Given the description of an element on the screen output the (x, y) to click on. 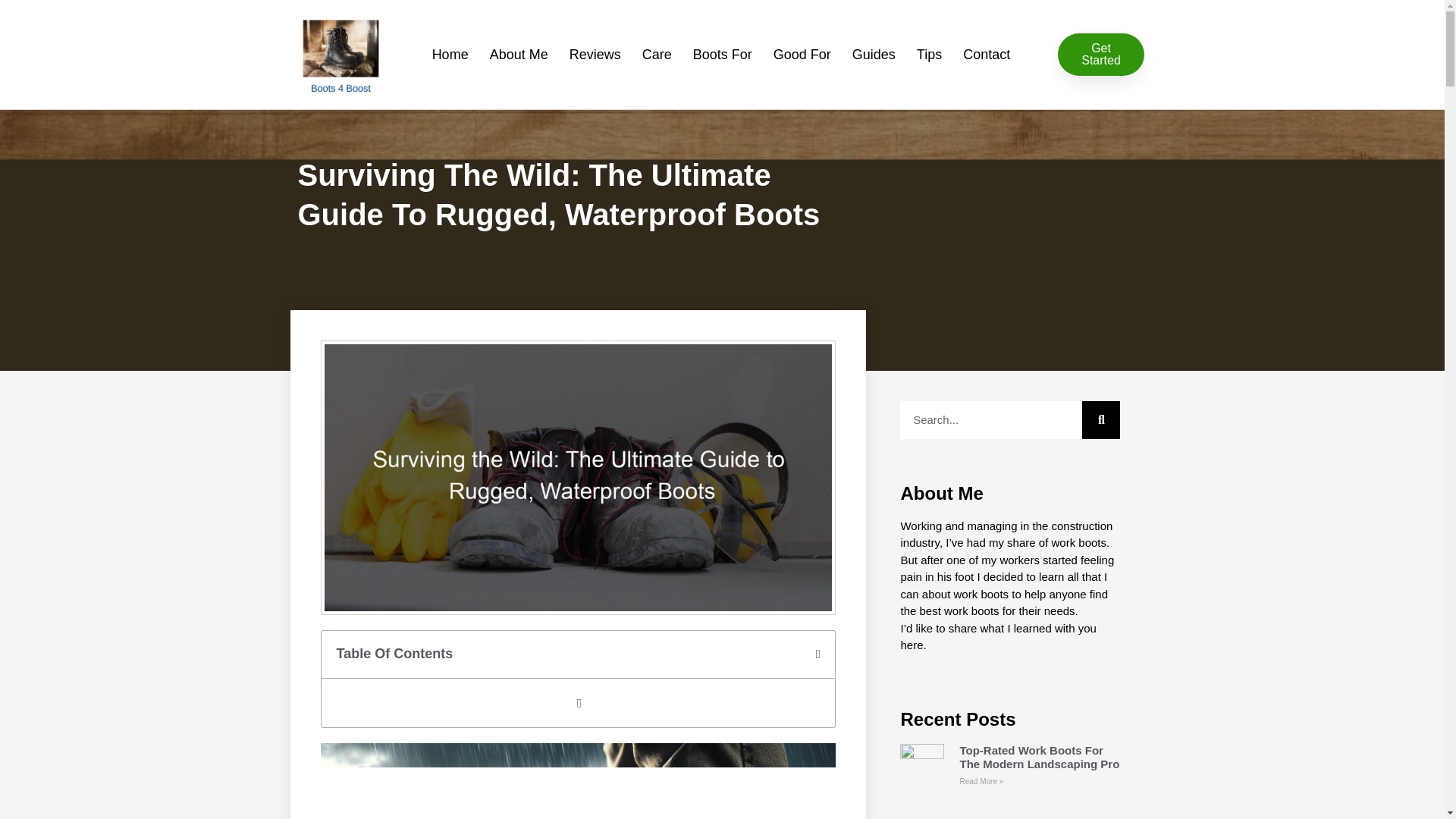
Home (450, 54)
Boots For (722, 54)
Search (990, 419)
Guides (873, 54)
About Me (519, 54)
Reviews (595, 54)
Contact (986, 54)
Search (1100, 419)
Good For (801, 54)
Get Started (1100, 54)
